Given the description of an element on the screen output the (x, y) to click on. 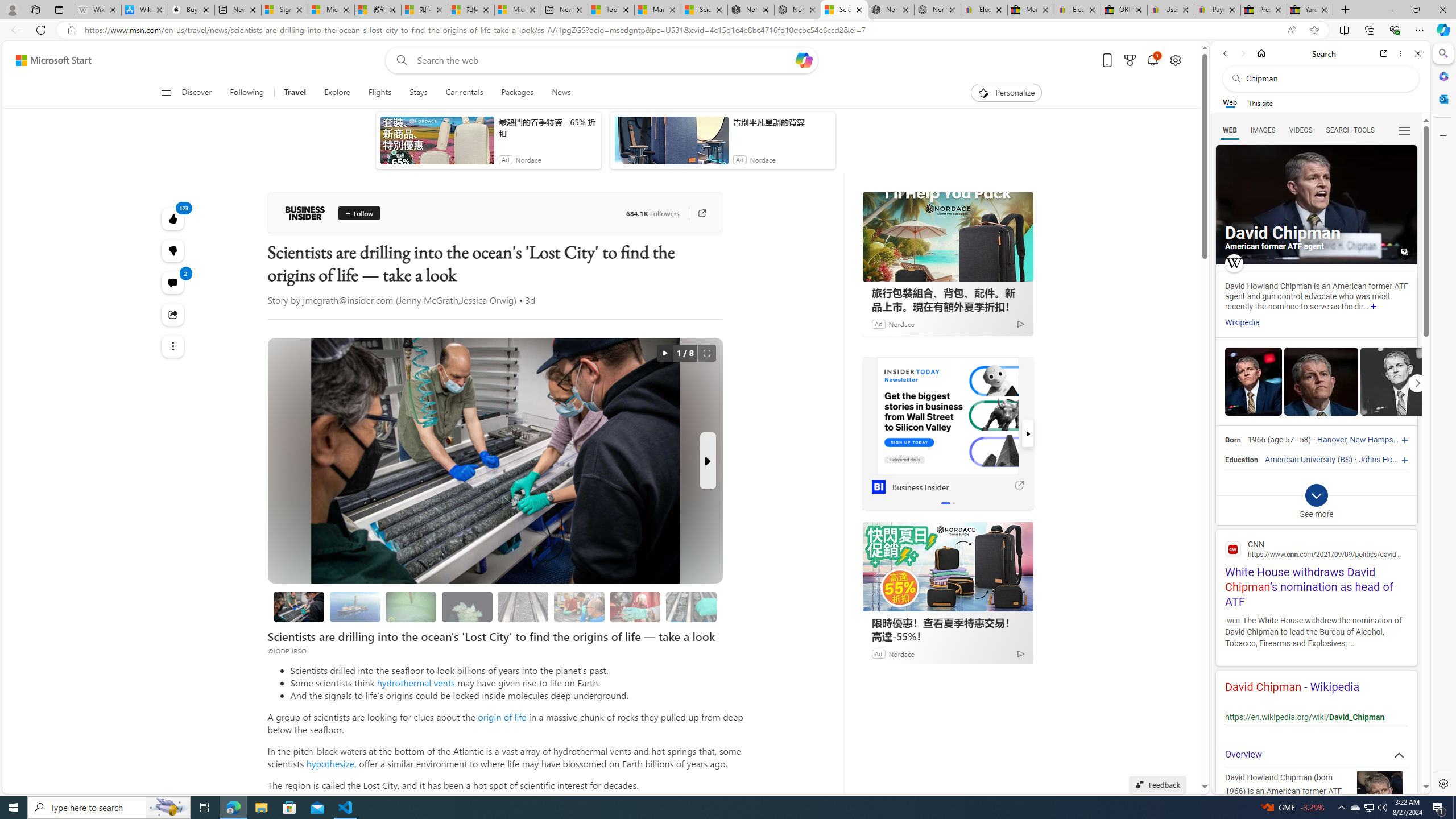
Marine life - MSN (656, 9)
Business Insider (947, 416)
Business Insider (305, 213)
